Given the description of an element on the screen output the (x, y) to click on. 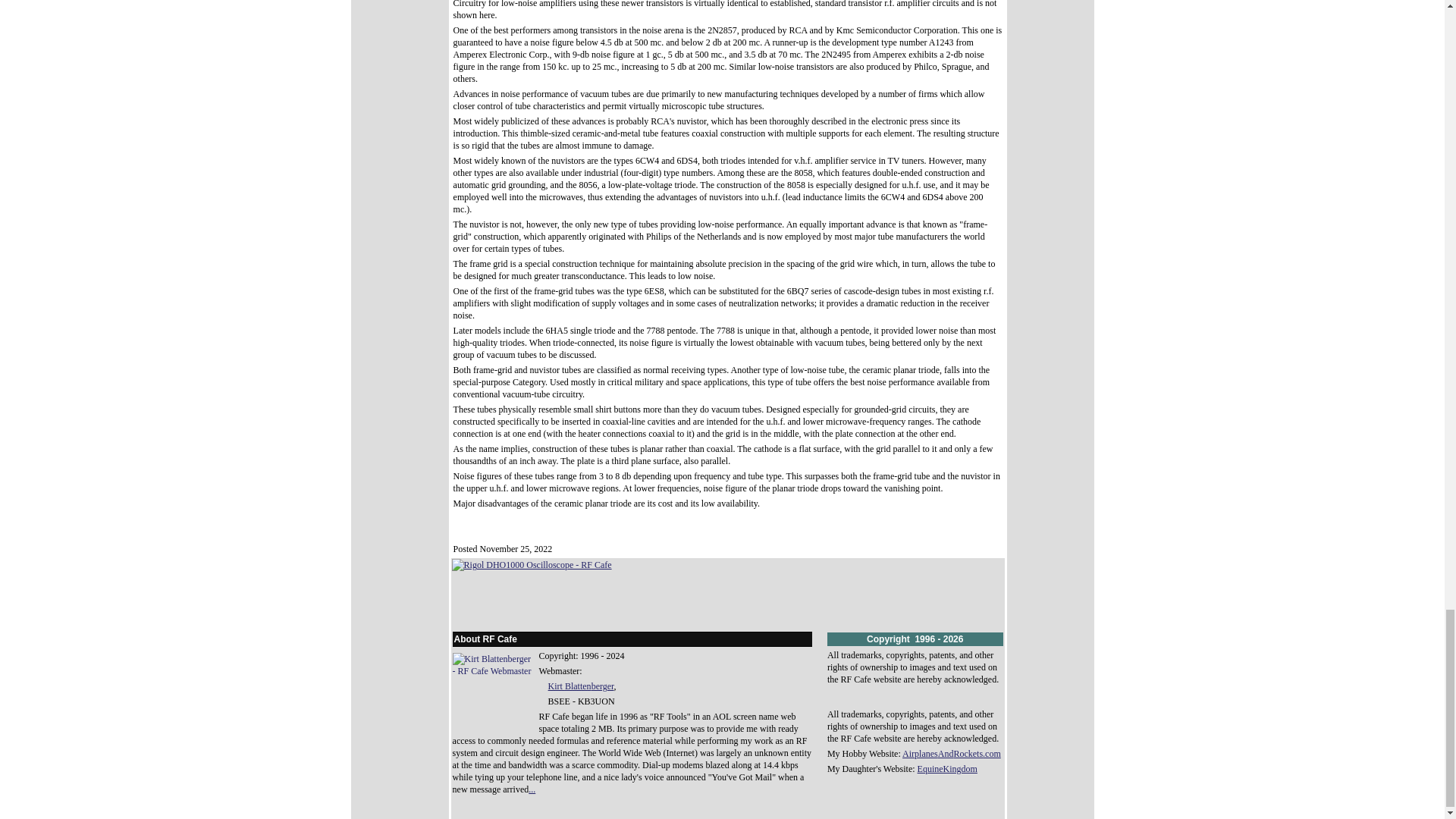
... (531, 788)
Kirt Blattenberger (581, 685)
AirplanesAndRockets.com (951, 753)
EquineKingdom (946, 768)
